Given the description of an element on the screen output the (x, y) to click on. 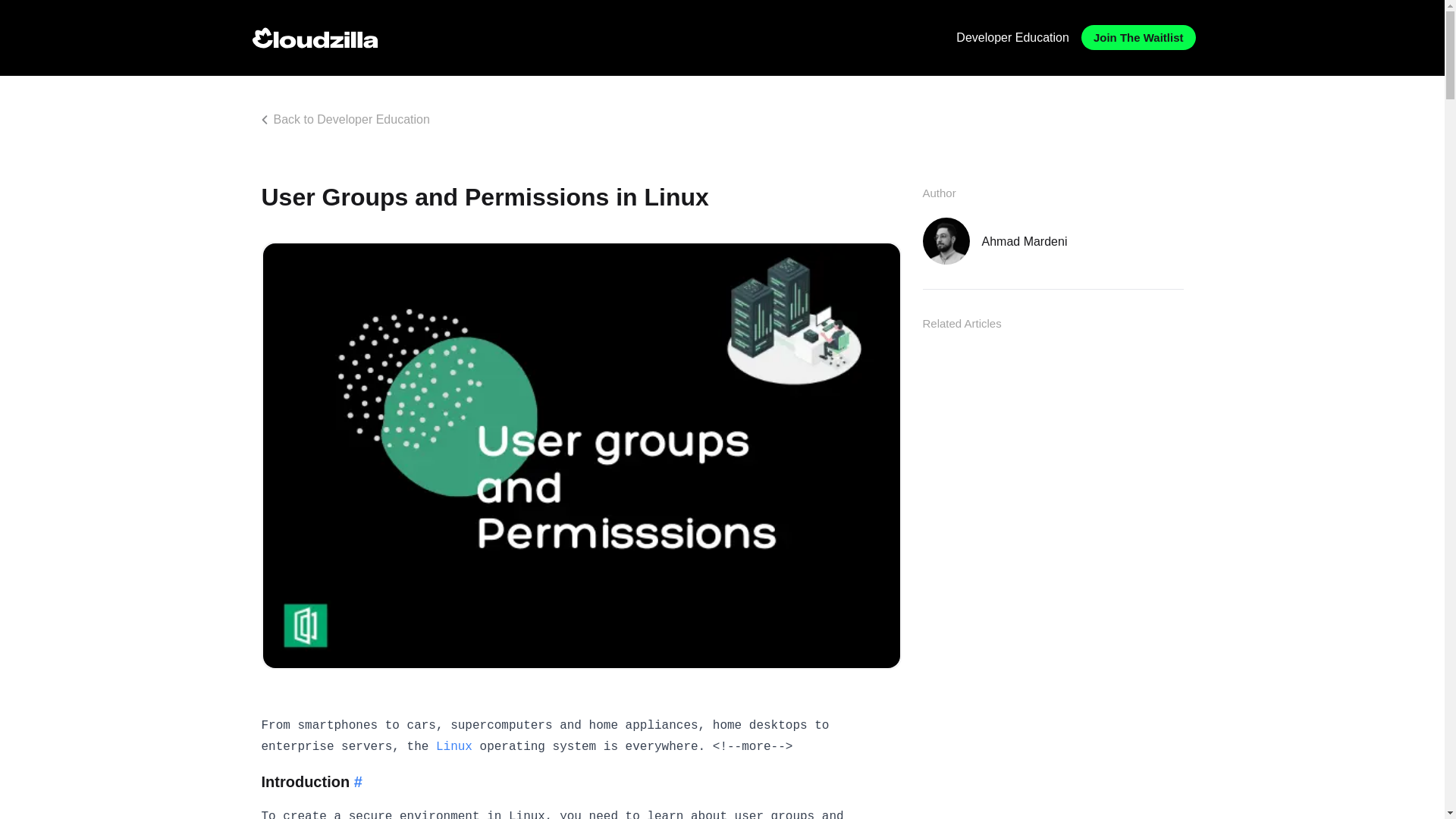
Linux (453, 746)
Back to Developer Education (349, 118)
Join The Waitlist (1138, 37)
Ahmad Mardeni (1051, 240)
Developer Education (1012, 37)
